Given the description of an element on the screen output the (x, y) to click on. 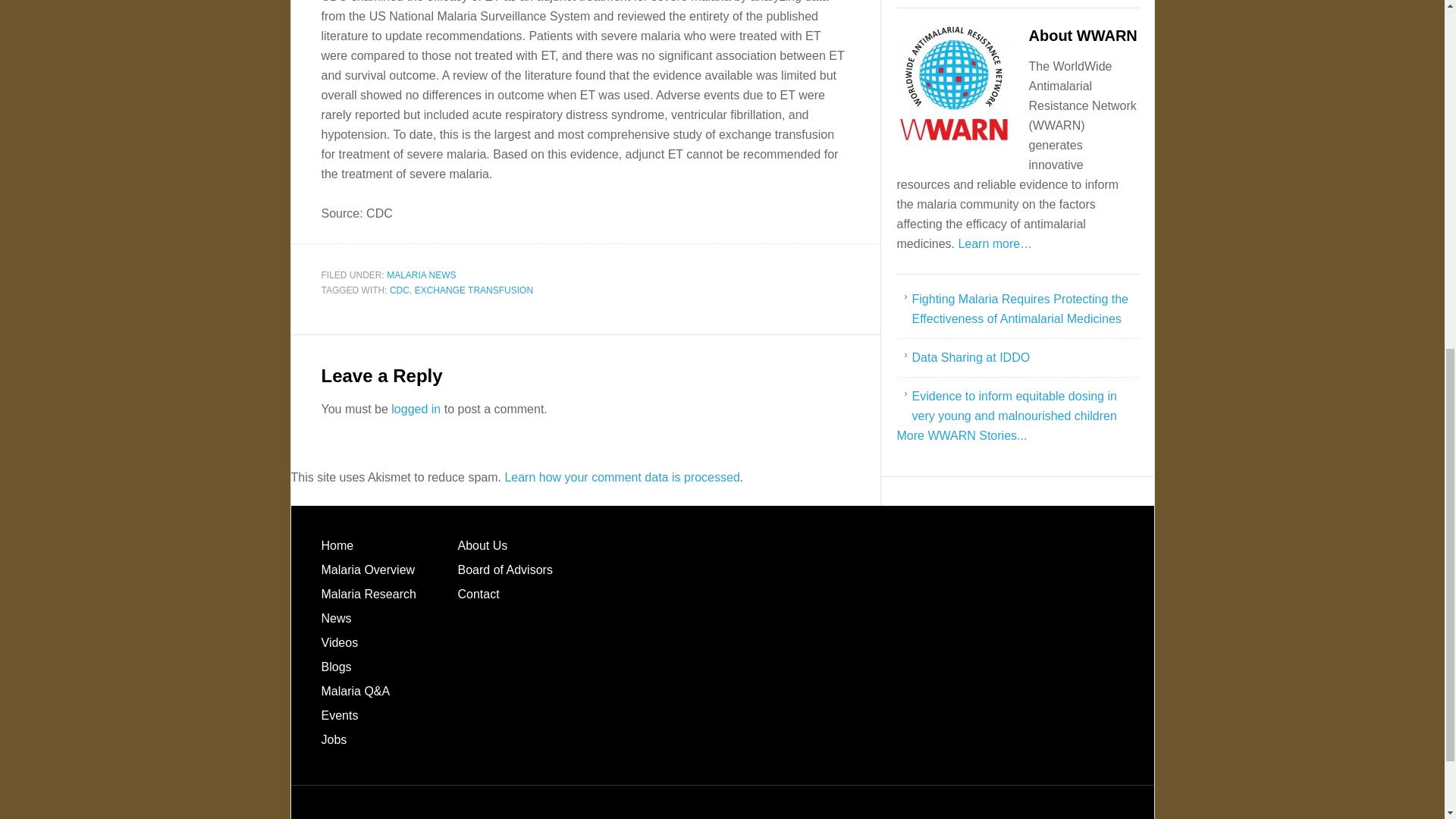
Videos (339, 642)
Jobs (334, 739)
EXCHANGE TRANSFUSION (473, 290)
Malaria Overview (367, 569)
logged in (416, 408)
Home (337, 545)
Events (339, 715)
CDC (399, 290)
Malaria Research (368, 594)
MALARIA NEWS (421, 275)
News (336, 617)
Data Sharing at IDDO (970, 357)
Blogs (336, 666)
More WWARN Stories... (961, 435)
